Given the description of an element on the screen output the (x, y) to click on. 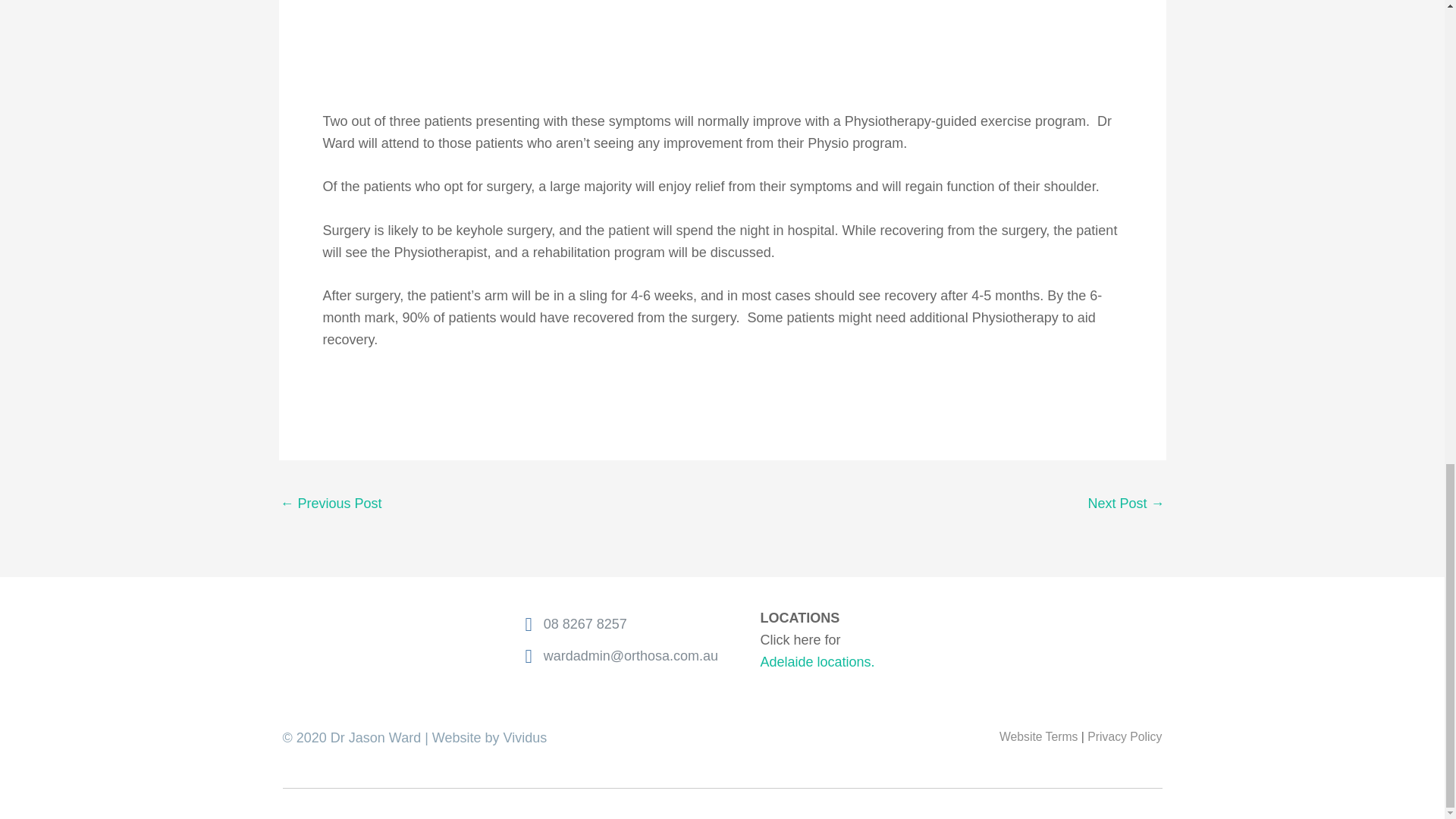
Dr Jason Ward - Orthopaedic Surgeon (1125, 504)
When might a partial knee replacement be an option? (331, 504)
Dr Jason Ward - Orthopaedics SA (1062, 628)
Dr Jason Ward (380, 635)
